Given the description of an element on the screen output the (x, y) to click on. 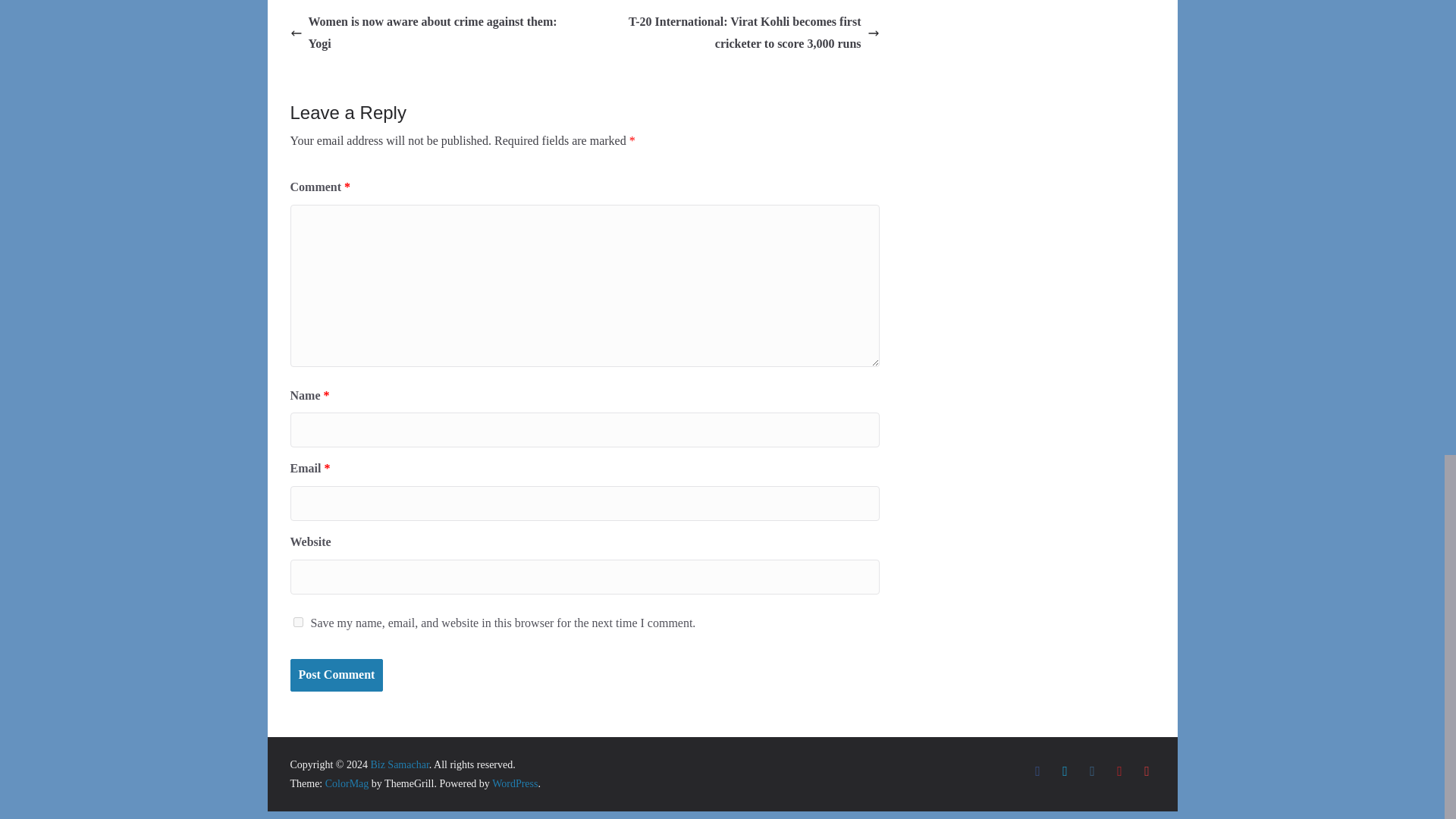
yes (297, 622)
Post Comment (335, 675)
